Given the description of an element on the screen output the (x, y) to click on. 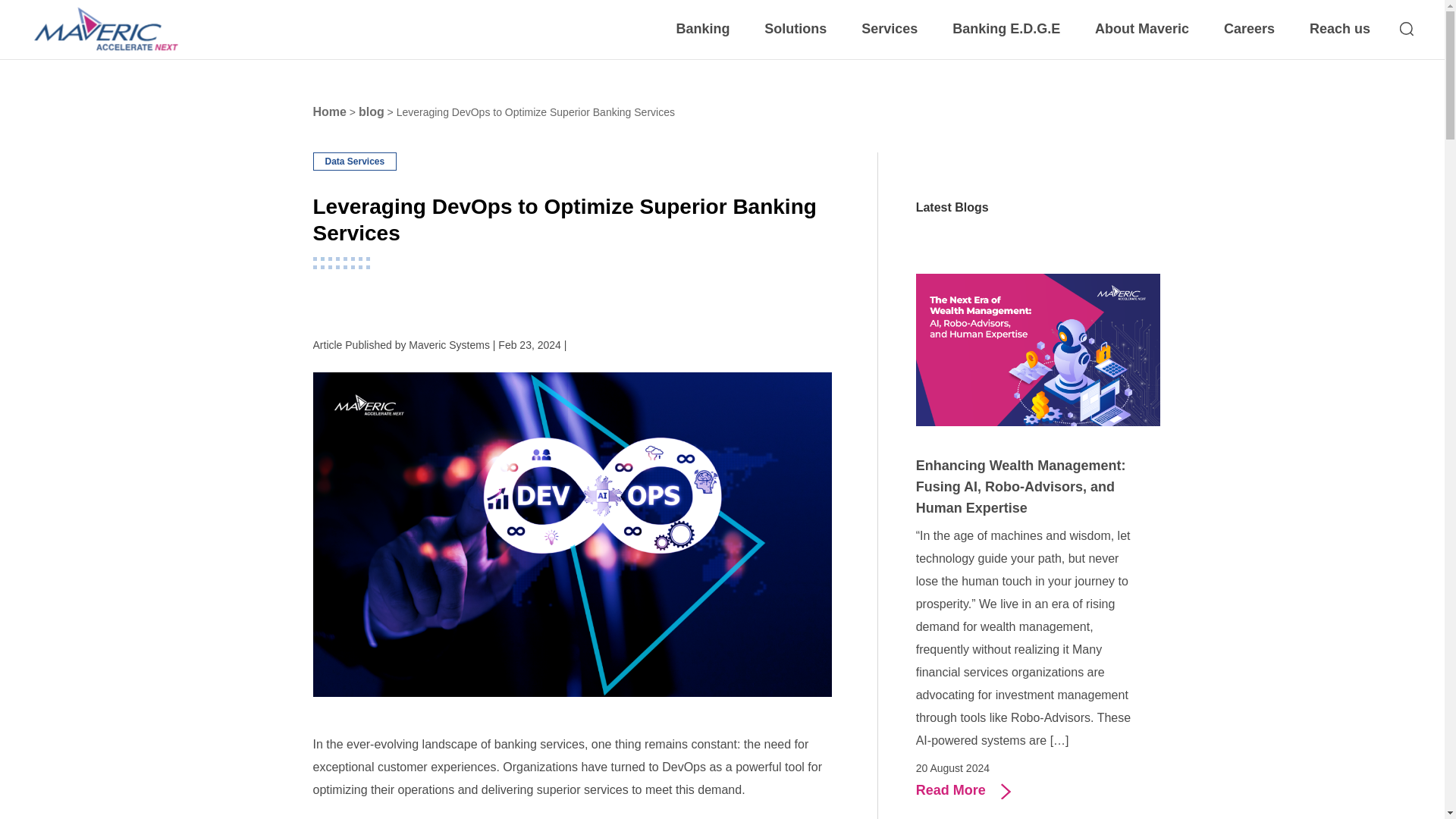
Banking (709, 28)
Solutions (802, 28)
